Given the description of an element on the screen output the (x, y) to click on. 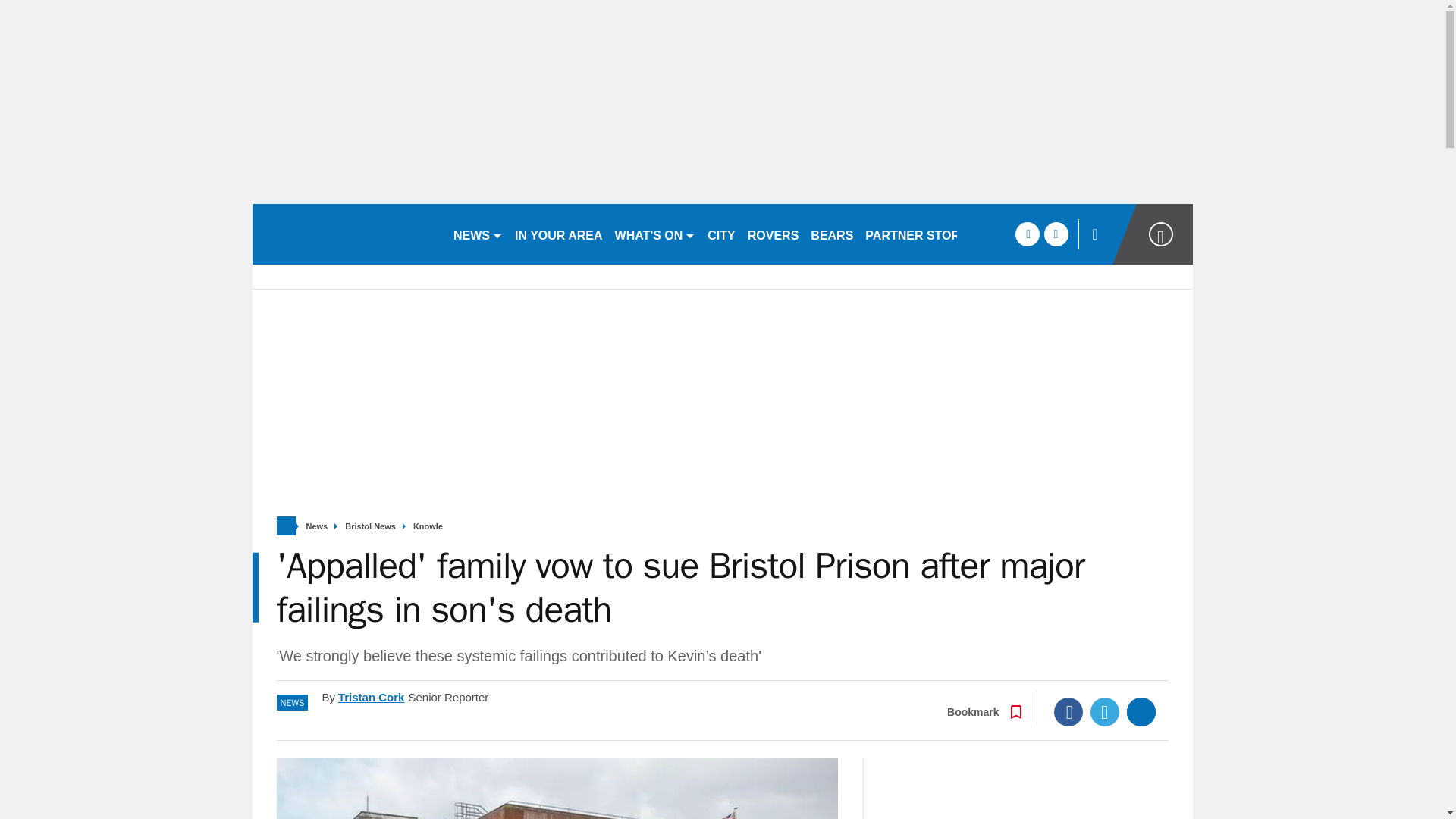
BEARS (832, 233)
ROVERS (773, 233)
facebook (1026, 233)
Facebook (1068, 711)
Twitter (1104, 711)
NEWS (477, 233)
CITY (721, 233)
bristolpost (345, 233)
IN YOUR AREA (558, 233)
twitter (1055, 233)
WHAT'S ON (654, 233)
PARTNER STORIES (922, 233)
